Given the description of an element on the screen output the (x, y) to click on. 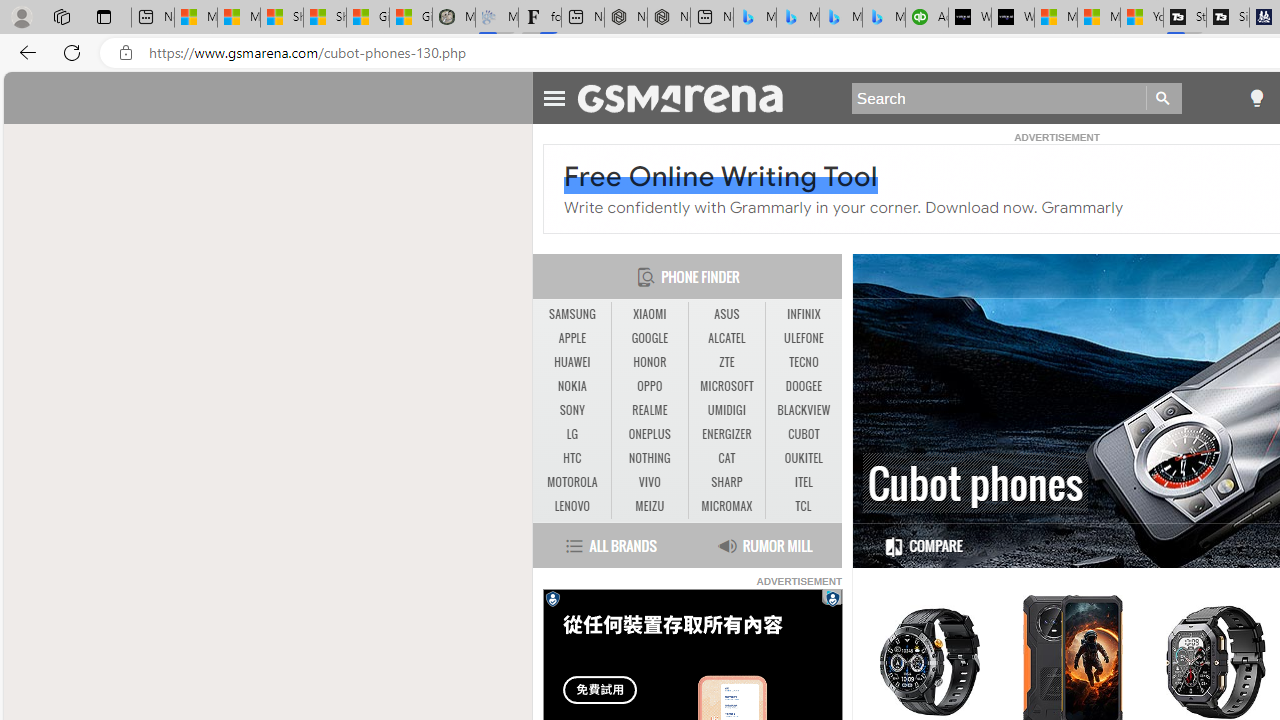
VIVO (649, 482)
LENOVO (571, 506)
APPLE (571, 338)
ITEL (803, 483)
MEIZU (649, 506)
ITEL (803, 482)
Nordace - #1 Japanese Best-Seller - Siena Smart Backpack (668, 17)
ASUS (726, 313)
BLACKVIEW (803, 410)
ZTE (726, 362)
GOOGLE (649, 339)
LG (571, 434)
